Given the description of an element on the screen output the (x, y) to click on. 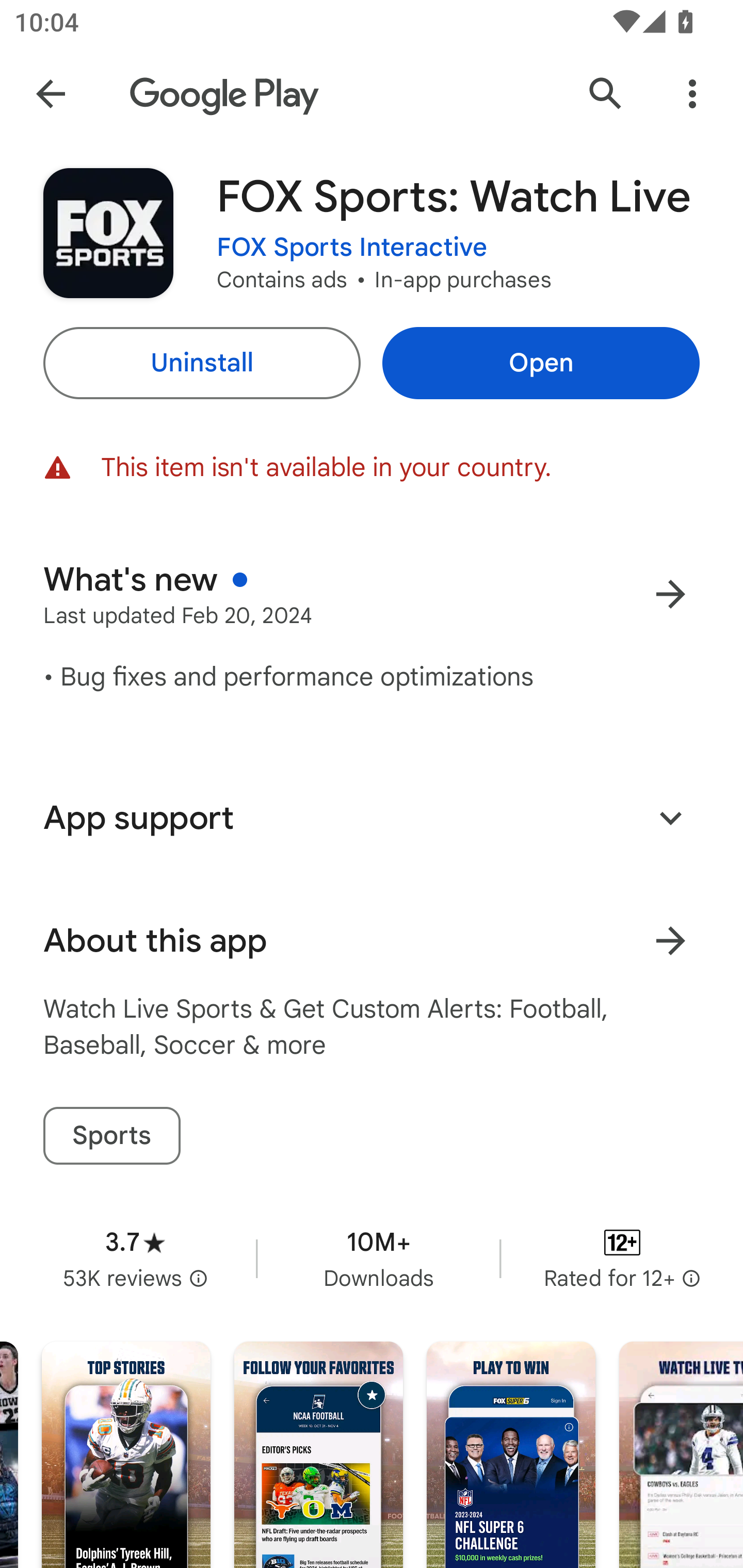
Navigate up (50, 93)
Search Google Play (605, 93)
More Options (692, 93)
FOX Sports Interactive (351, 247)
Uninstall (201, 362)
Open (540, 362)
More results for What's new (670, 594)
App support Expand (371, 817)
Expand (670, 817)
About this app Learn more About this app (371, 940)
Learn more About this app (670, 940)
Sports tag (111, 1135)
Average rating 3.7 stars in 53 thousand reviews (135, 1258)
Content rating Rated for 12+ (622, 1258)
Screenshot "1" of "5" (125, 1455)
Screenshot "2" of "5" (318, 1455)
Screenshot "3" of "5" (510, 1455)
Screenshot "4" of "5" (680, 1455)
